Given the description of an element on the screen output the (x, y) to click on. 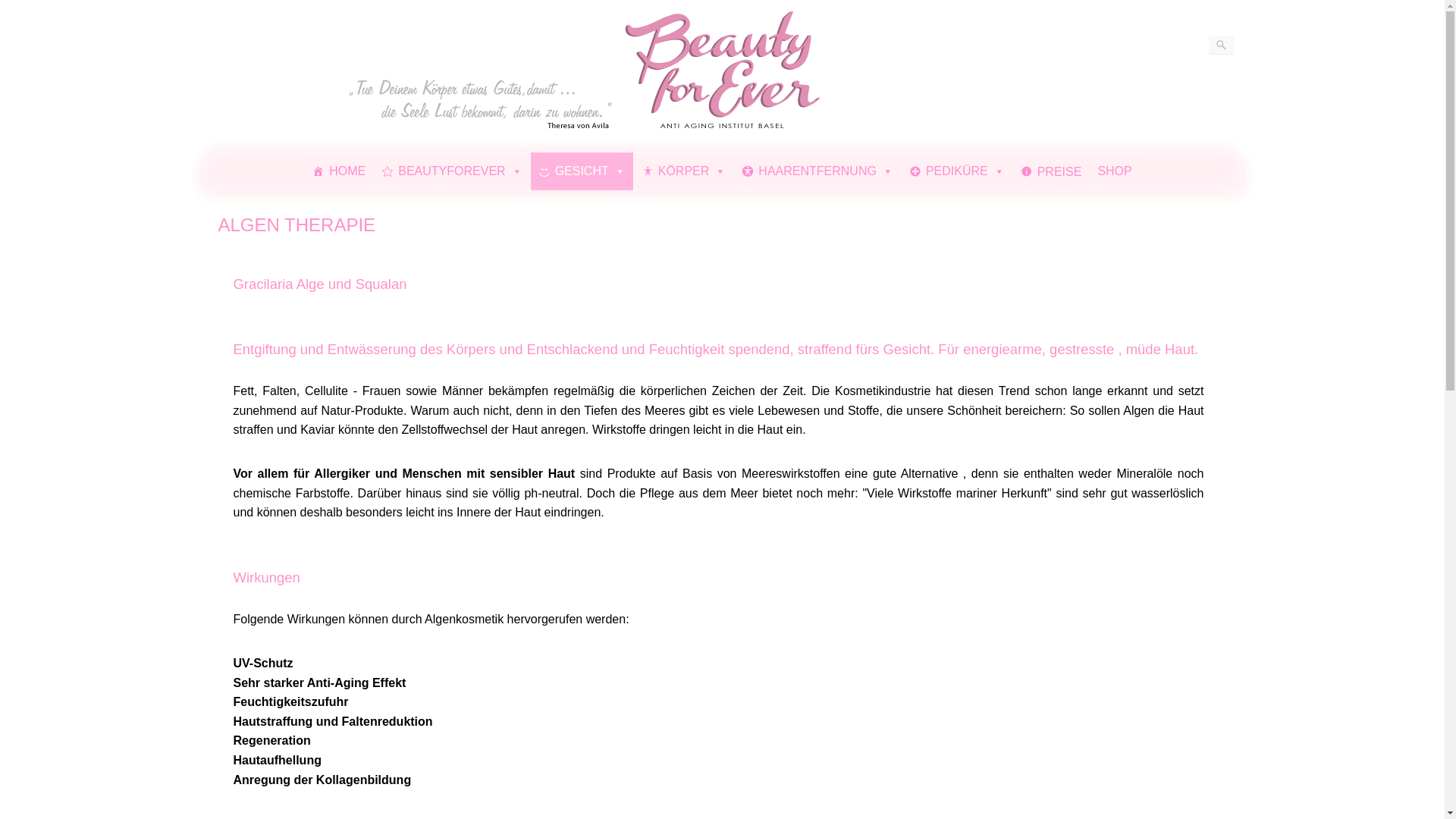
HOME Element type: text (338, 171)
BEAUTYFOREVER Element type: text (451, 171)
Suche Element type: text (20, 7)
SHOP Element type: text (1114, 171)
HAARENTFERNUNG Element type: text (817, 171)
GESICHT Element type: text (581, 171)
PREISE Element type: text (1051, 171)
